Given the description of an element on the screen output the (x, y) to click on. 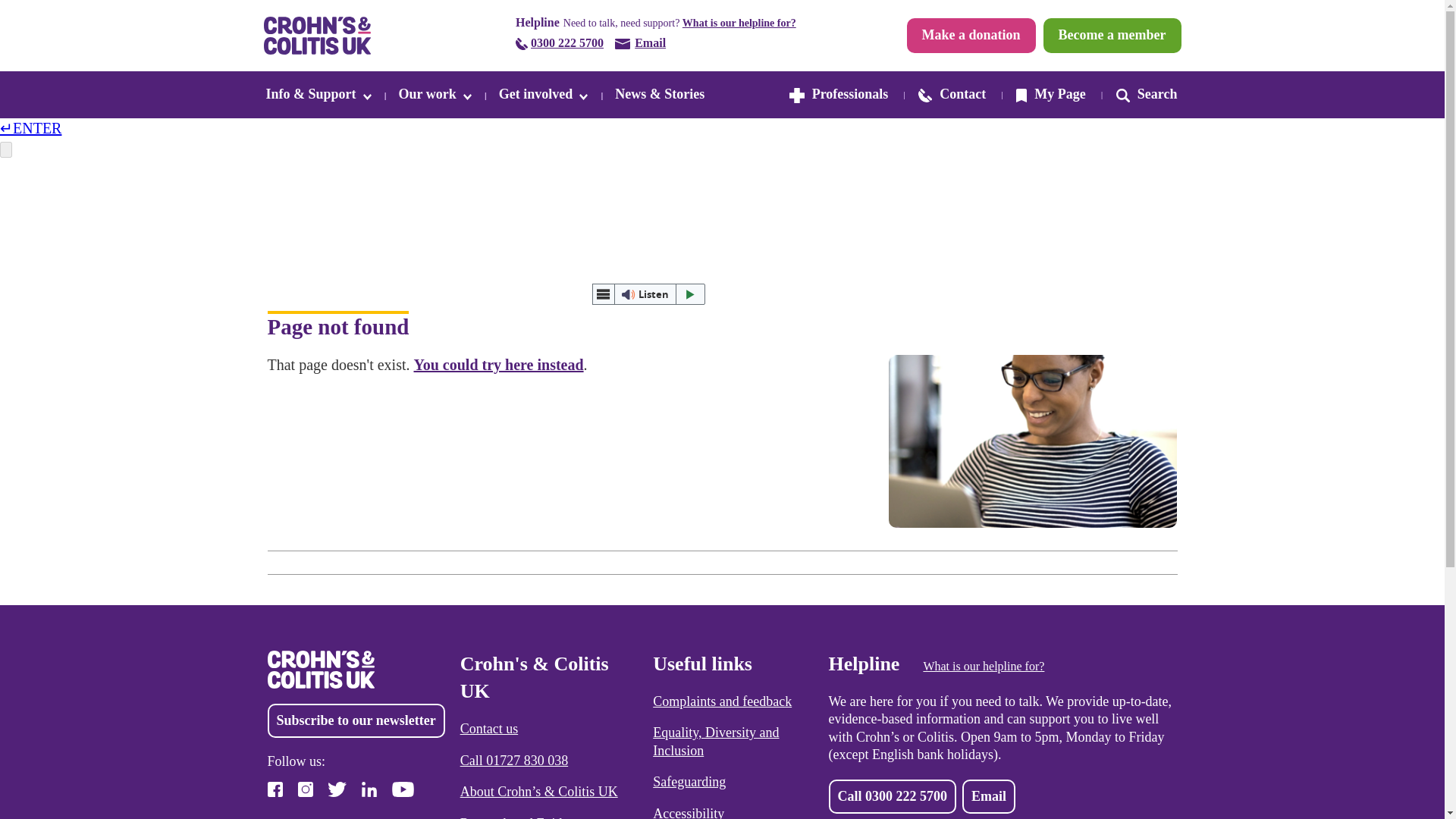
Get involved (543, 94)
What is our helpline for? (739, 22)
Our work (434, 94)
Listen to this page using ReadSpeaker webReader (647, 293)
0300 222 5700 (559, 44)
webReader menu (602, 293)
Email (639, 44)
Become a member (1111, 35)
Home page (498, 364)
Make a donation (971, 35)
